Given the description of an element on the screen output the (x, y) to click on. 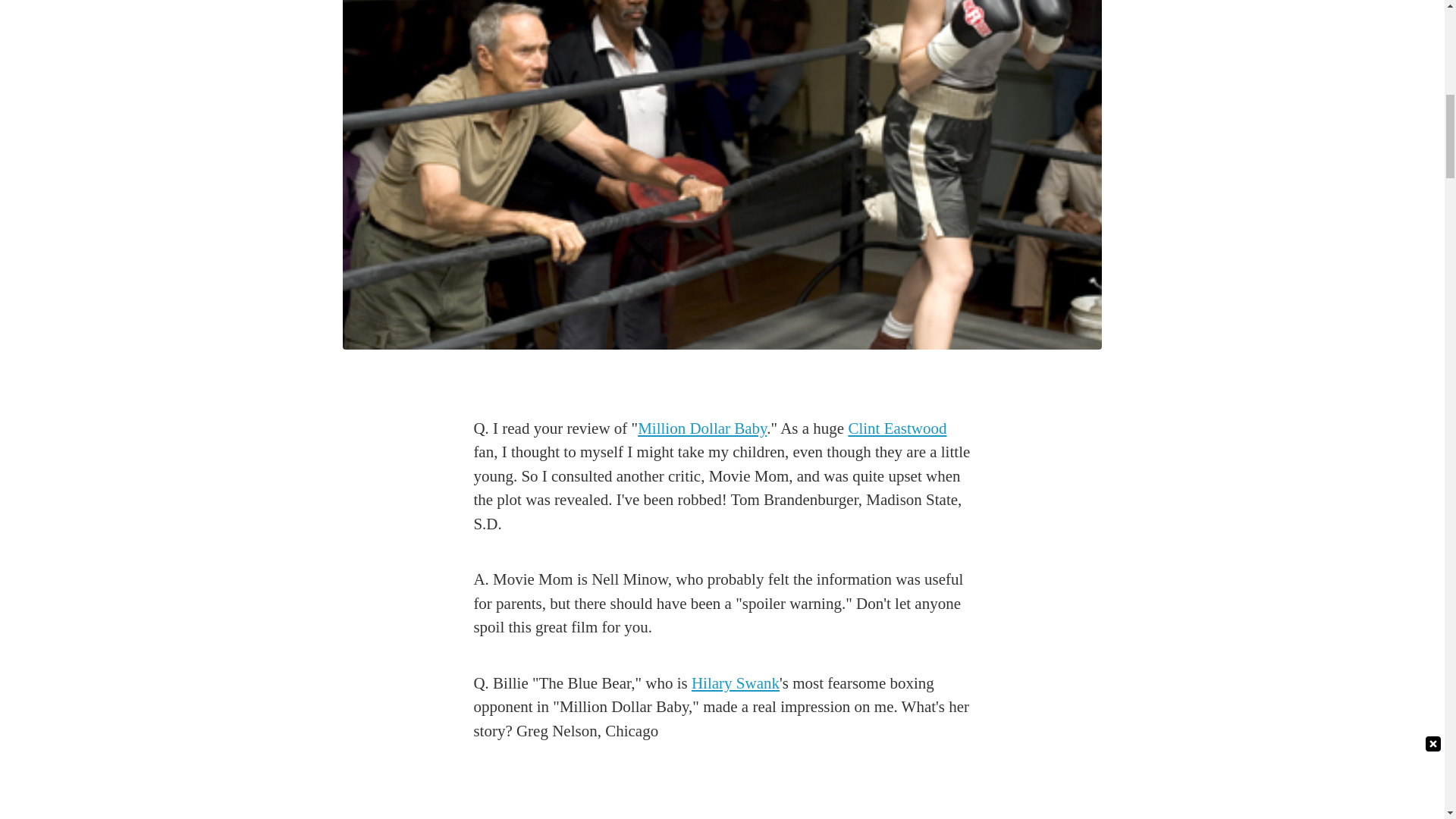
Hilary Swank (734, 683)
Million Dollar Baby (702, 428)
Clint Eastwood (896, 428)
